Given the description of an element on the screen output the (x, y) to click on. 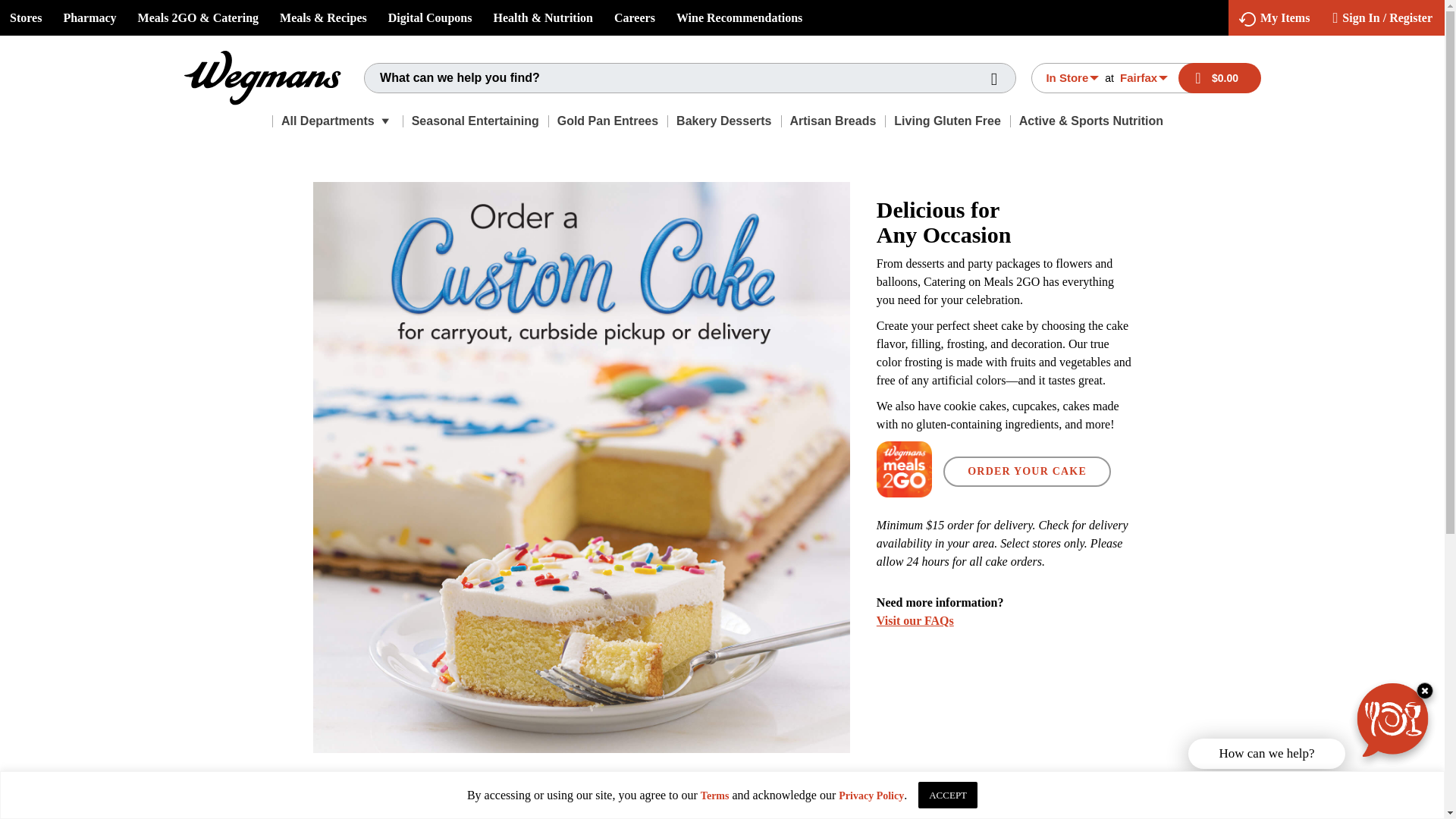
Careers (634, 17)
My Items (1274, 17)
Wine Recommendations (738, 17)
Stores (26, 17)
ACCEPT (947, 795)
Digital Coupons (430, 17)
Terms (714, 795)
Privacy Policy (871, 795)
Pharmacy (89, 17)
